Given the description of an element on the screen output the (x, y) to click on. 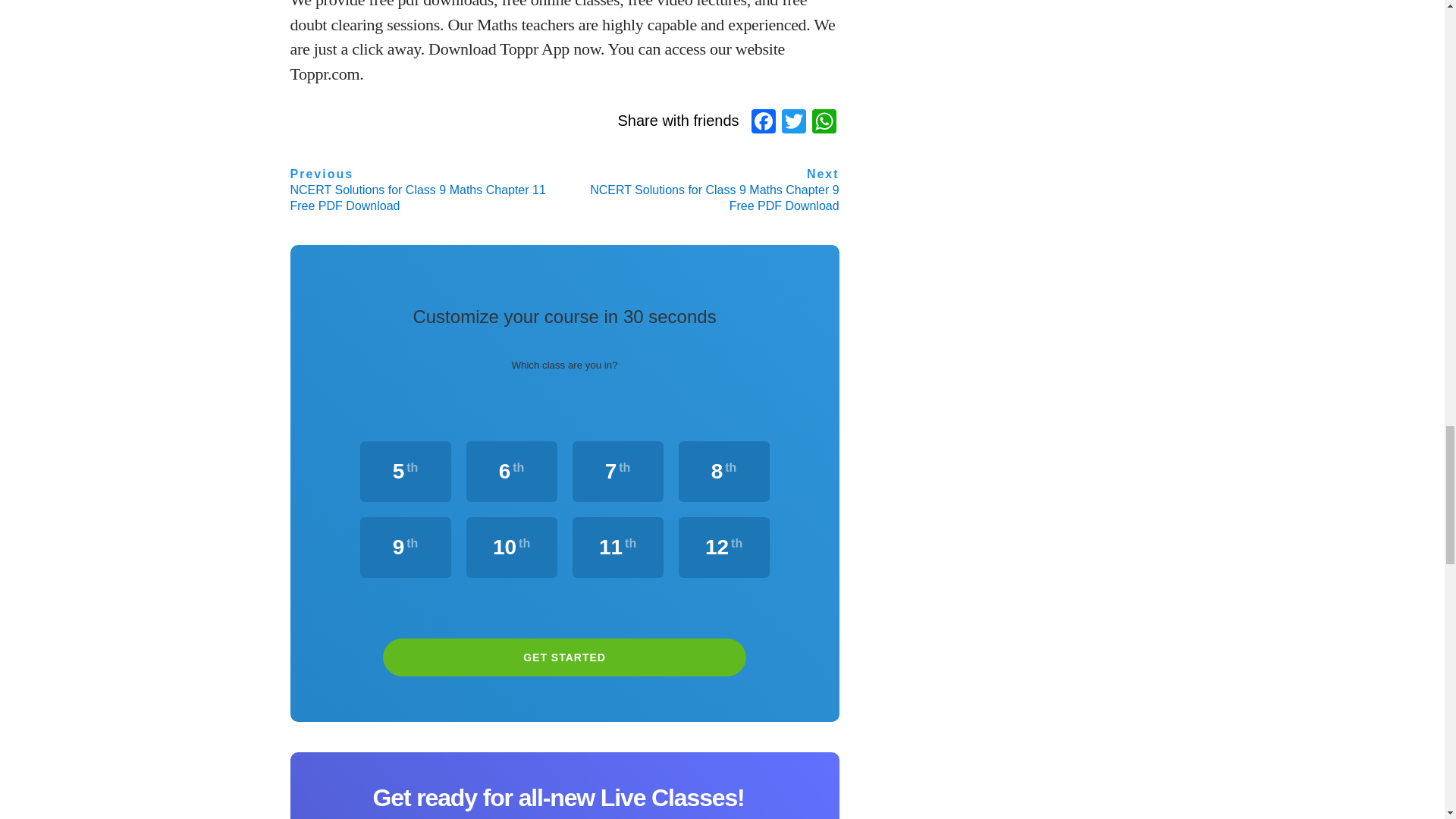
Twitter (793, 122)
WhatsApp (824, 122)
Facebook (763, 122)
